Given the description of an element on the screen output the (x, y) to click on. 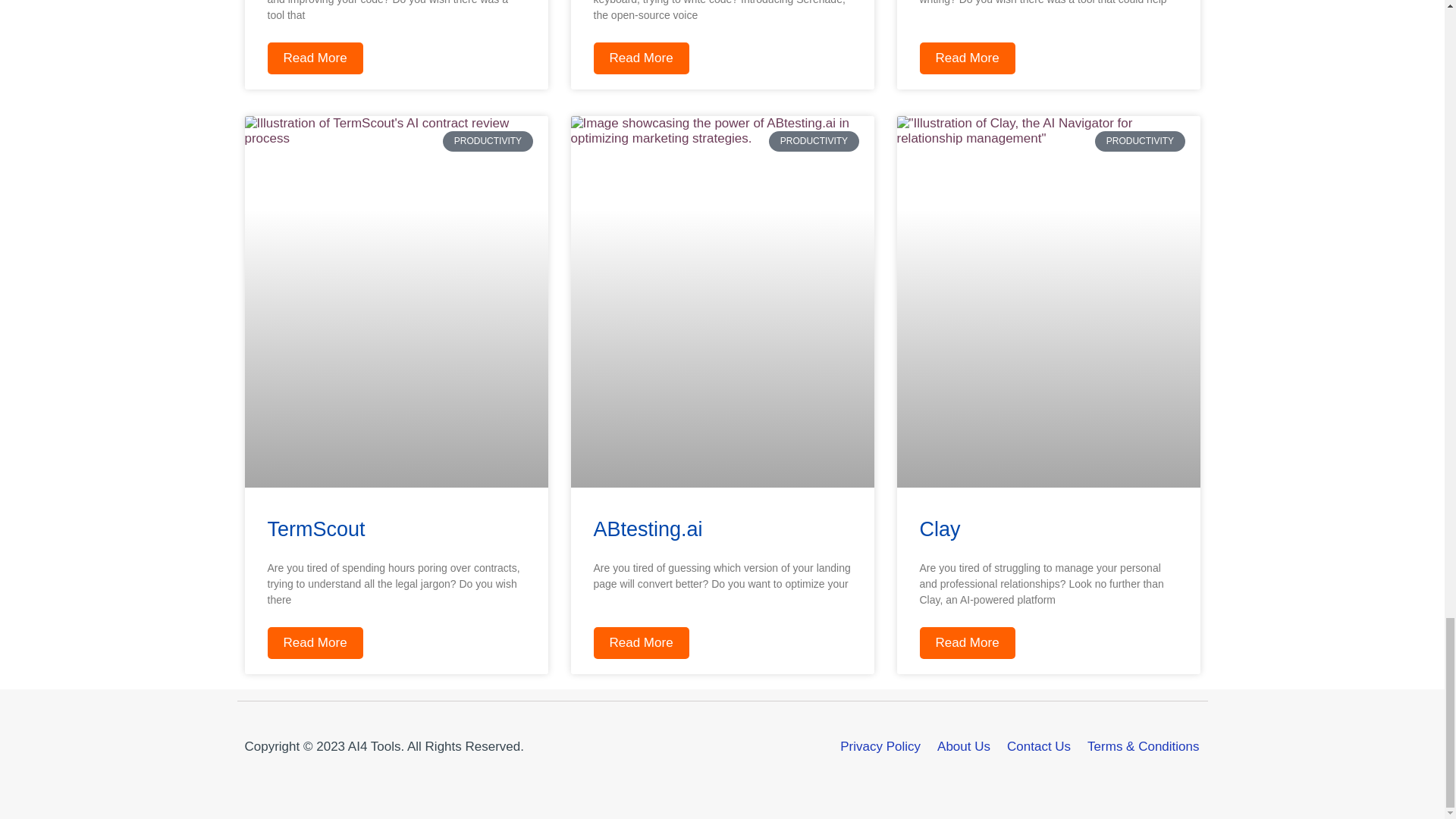
TermScout (315, 528)
Read More (314, 643)
Read More (314, 58)
Read More (966, 643)
Privacy Policy (880, 746)
ABtesting.ai (646, 528)
Read More (640, 58)
About Us (963, 746)
Read More (640, 643)
Read More (966, 58)
Clay (938, 528)
Contact Us (1038, 746)
